Given the description of an element on the screen output the (x, y) to click on. 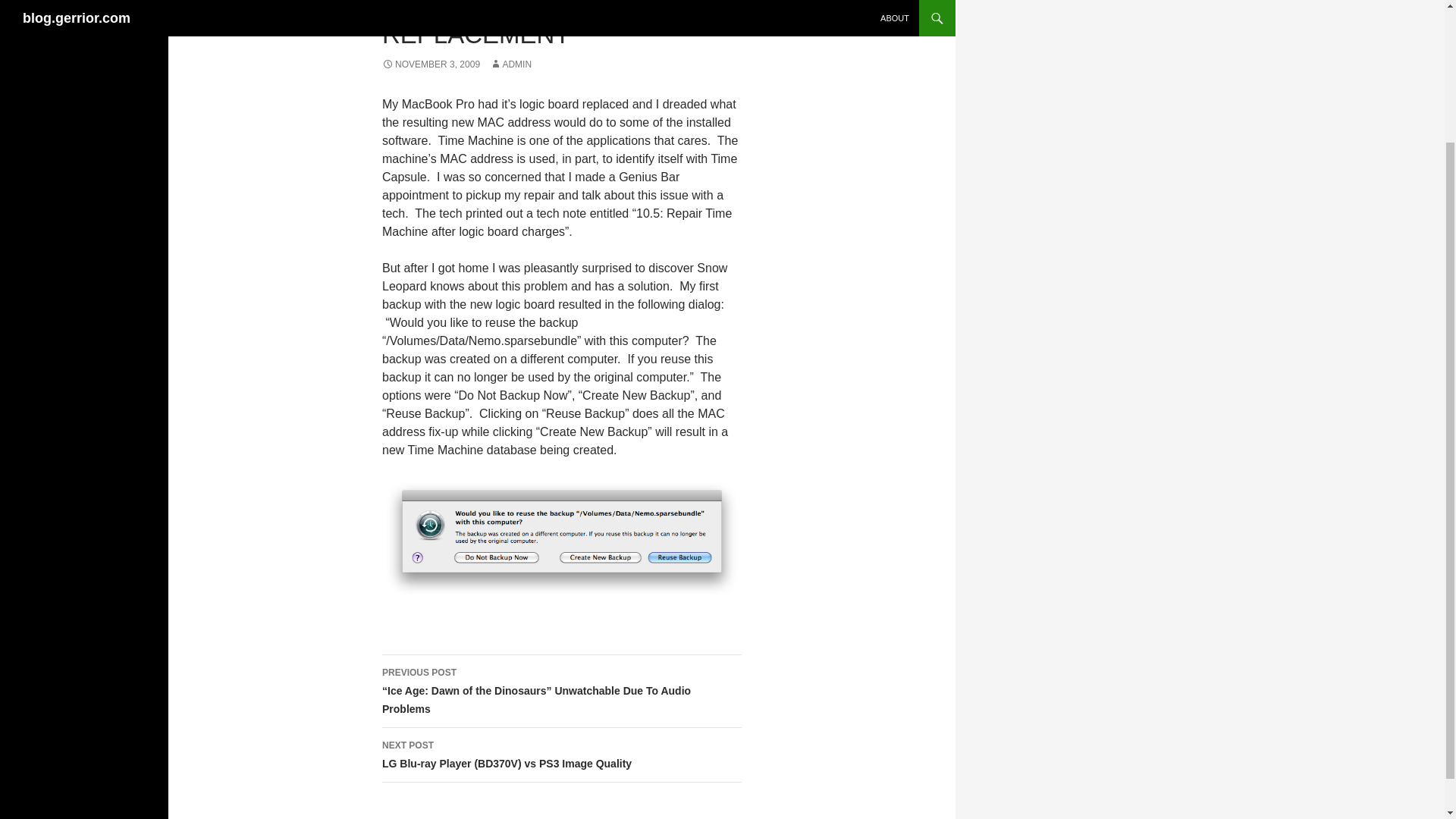
Reuse Backup Dialog (561, 538)
NOVEMBER 3, 2009 (430, 63)
ADMIN (510, 63)
